Given the description of an element on the screen output the (x, y) to click on. 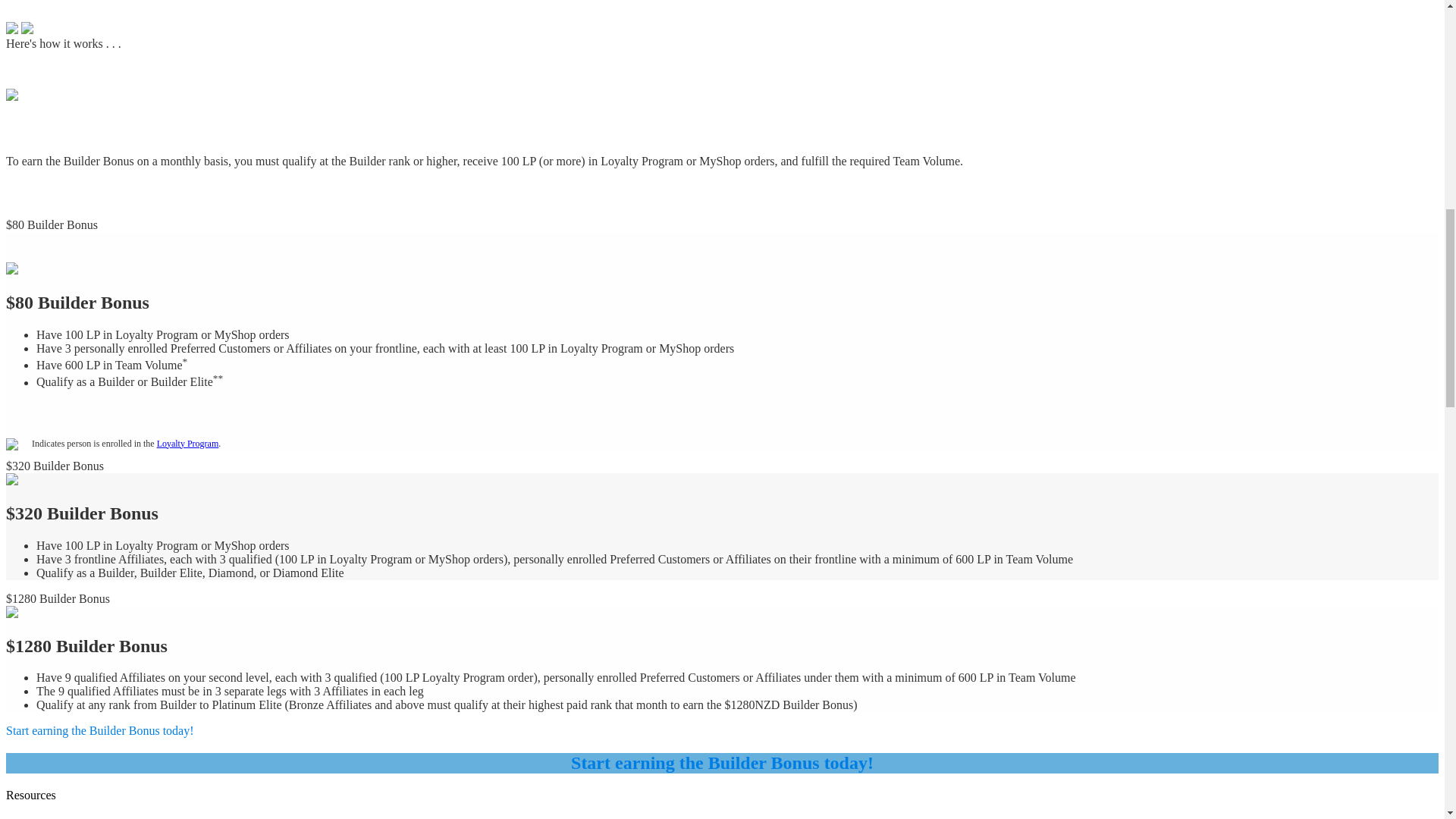
Loyalty Program (188, 443)
